Given the description of an element on the screen output the (x, y) to click on. 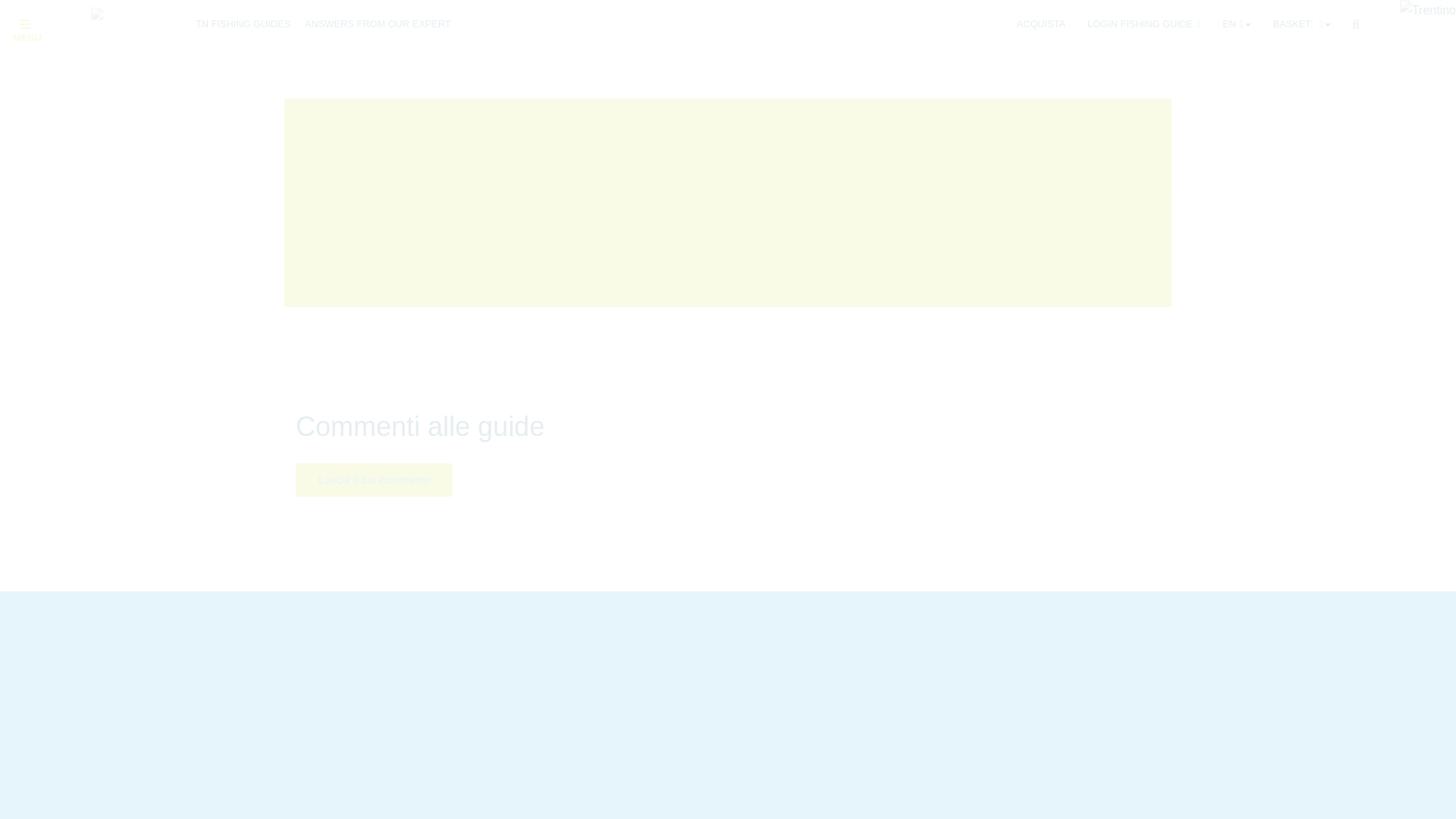
ACQUISTA (1040, 23)
Login fishing guide (1143, 23)
TN FISHING GUIDES (242, 24)
Trentino fishing (133, 22)
ACQUISTA (1040, 23)
ANSWERS FROM OUR EXPERT (376, 24)
MENU (41, 23)
